Given the description of an element on the screen output the (x, y) to click on. 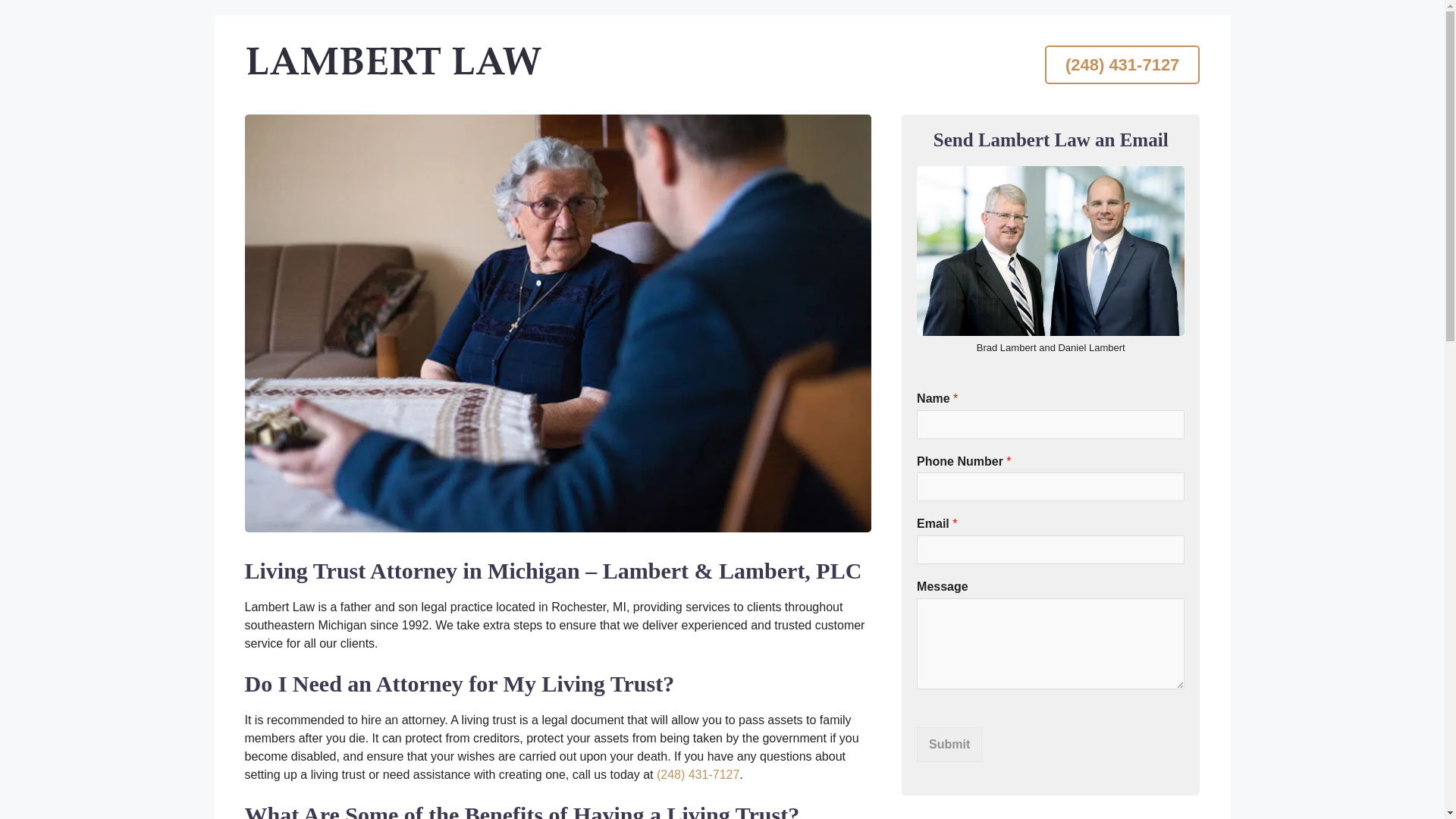
lambert-law-logo-01 (392, 60)
Submit (949, 744)
